Given the description of an element on the screen output the (x, y) to click on. 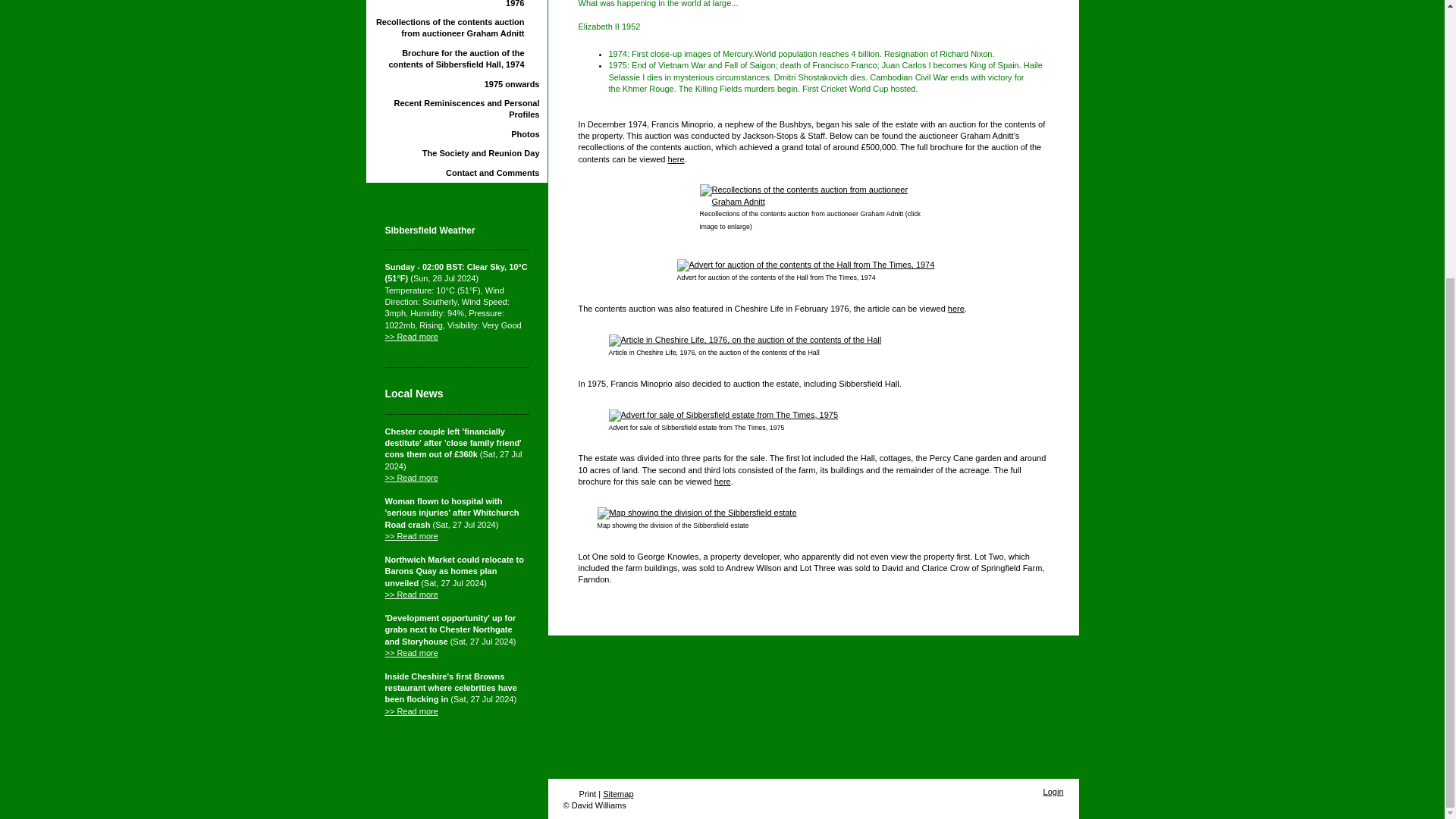
Login (1053, 791)
Contact and Comments (456, 172)
here (722, 481)
1975 onwards (456, 84)
Print (580, 793)
here (955, 307)
here (676, 158)
Advert for sale of Sibbersfield estate from The Times, 1975 (812, 420)
Recent Reminiscences and Personal Profiles (456, 109)
Map showing the division of the Sibbersfield estate (812, 517)
Photos (456, 134)
